Given the description of an element on the screen output the (x, y) to click on. 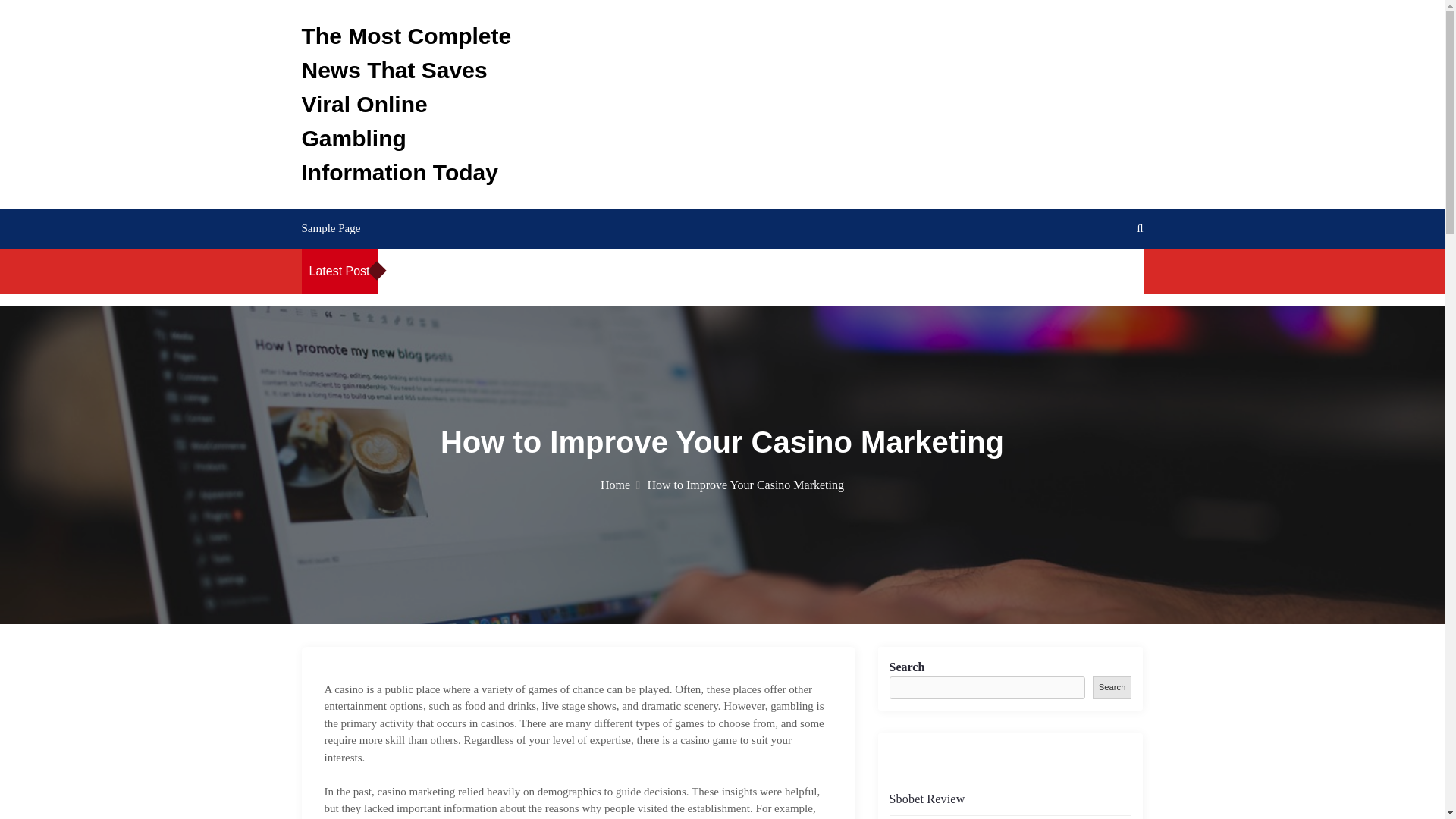
Sbobet Review (980, 270)
Sample Page (331, 227)
Home (619, 484)
Sbobet Review (473, 270)
Search (1112, 688)
Sbobet Review (925, 798)
